Given the description of an element on the screen output the (x, y) to click on. 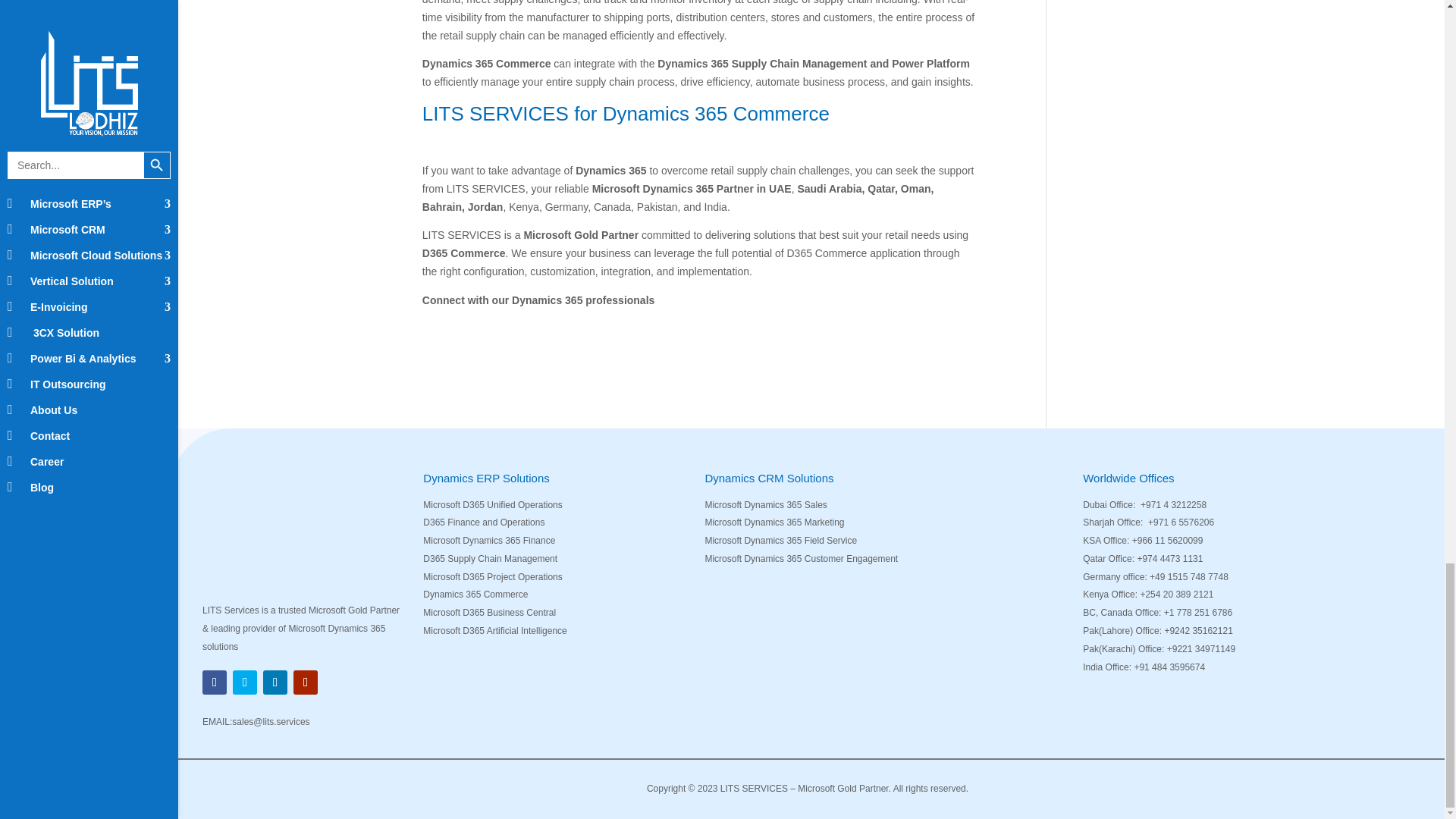
Follow on LinkedIn (274, 682)
Lits Group (304, 528)
Follow on Facebook (214, 682)
Follow on Twitter (244, 682)
Follow on Youtube (305, 682)
Microsoft Gold partner (742, 594)
